Given the description of an element on the screen output the (x, y) to click on. 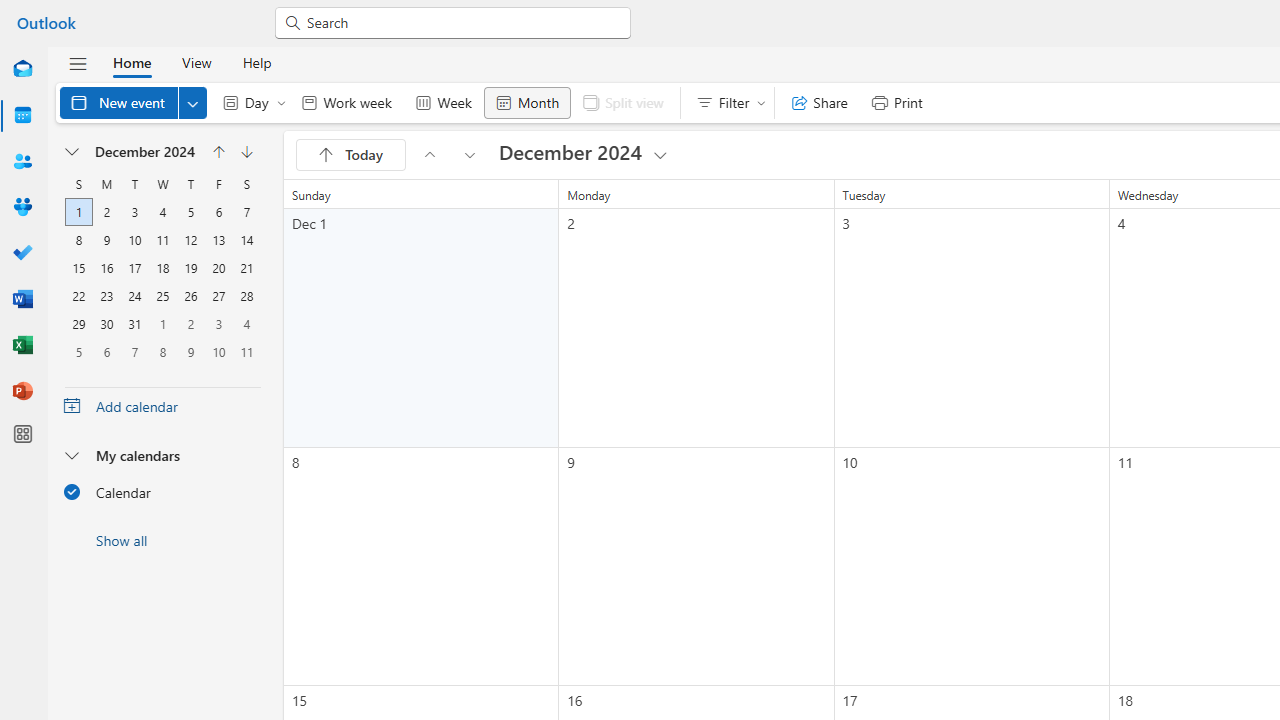
Week (443, 102)
December 2024 (584, 154)
15, December, 2024 (78, 268)
PowerPoint (22, 391)
2, December, 2024 (107, 212)
5, December, 2024 (190, 212)
Thursday (190, 183)
17, December, 2024 (134, 268)
New event (133, 102)
3, January, 2025 (218, 323)
12, December, 2024 (190, 240)
23, December, 2024 (107, 296)
Split view (622, 102)
10, January, 2025 (218, 351)
